Given the description of an element on the screen output the (x, y) to click on. 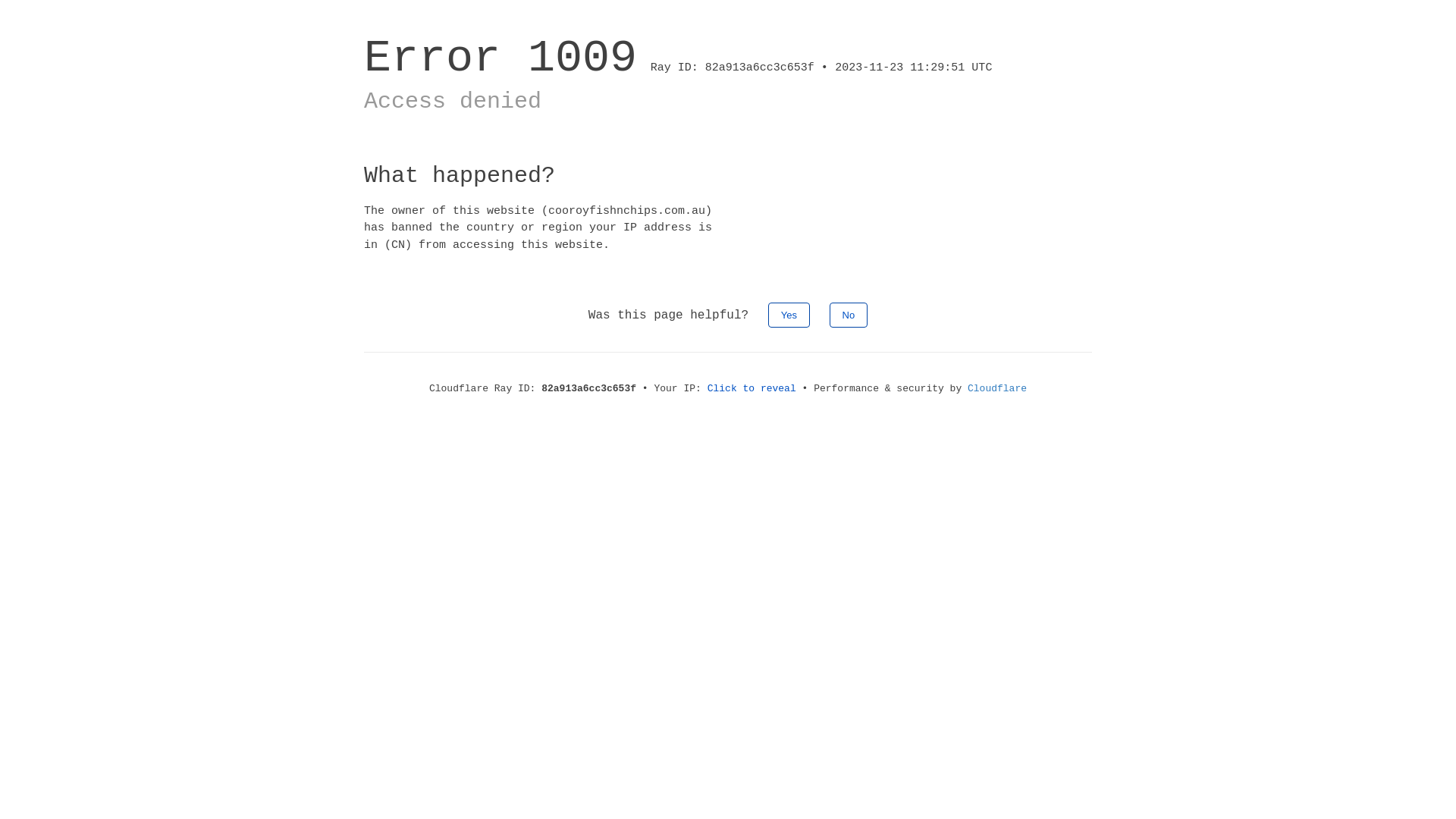
Click to reveal Element type: text (751, 388)
No Element type: text (848, 314)
Cloudflare Element type: text (996, 388)
Yes Element type: text (788, 314)
